Given the description of an element on the screen output the (x, y) to click on. 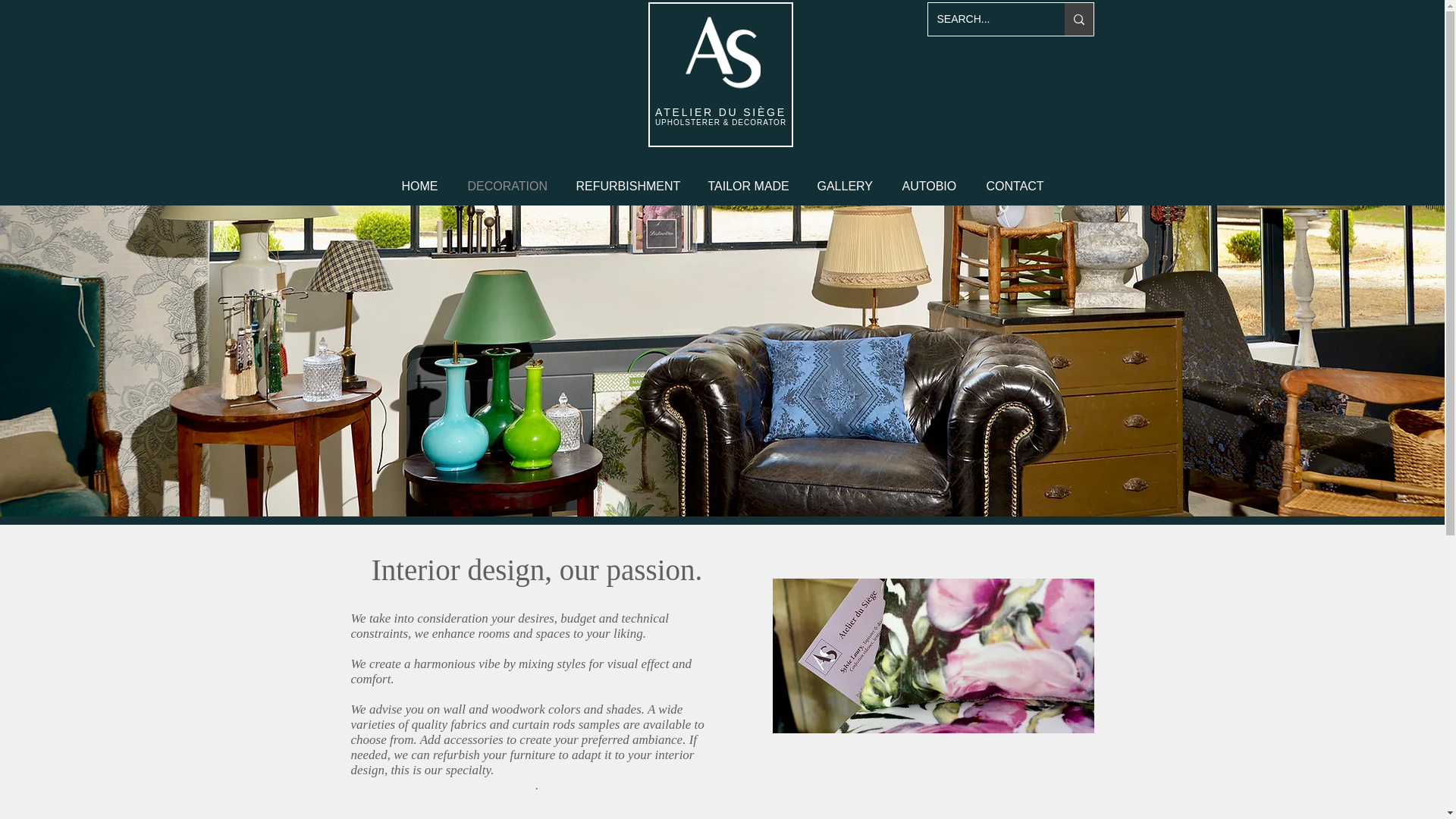
HOME (419, 183)
AUTOBIO (928, 183)
GALLERY (844, 183)
TAILOR MADE (747, 183)
REFURBISHMENT (626, 183)
CONTACT (1014, 183)
DECORATION (505, 183)
